Given the description of an element on the screen output the (x, y) to click on. 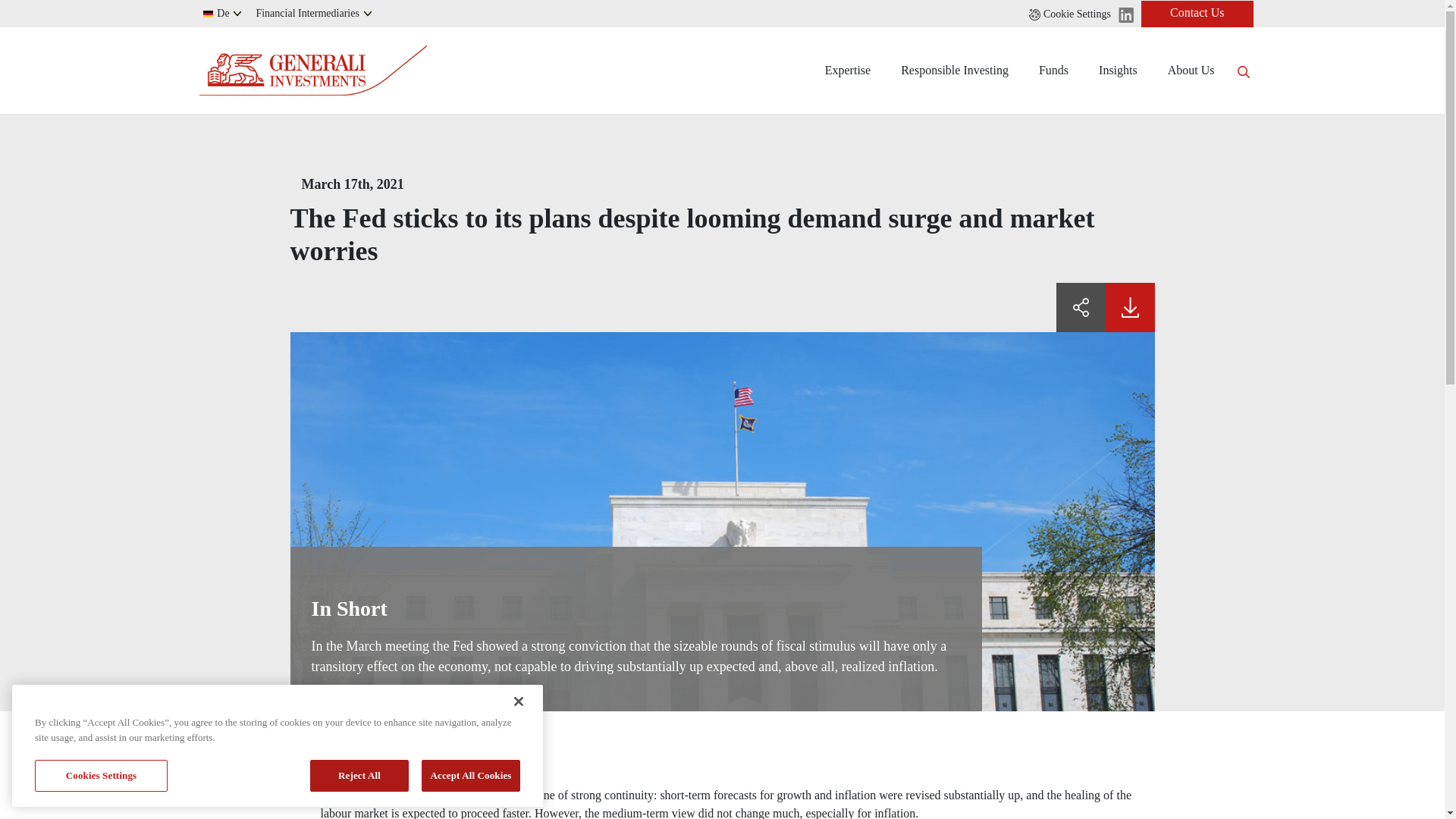
Contact Us (1197, 13)
Responsible Investing (954, 70)
About Us (1191, 70)
